Given the description of an element on the screen output the (x, y) to click on. 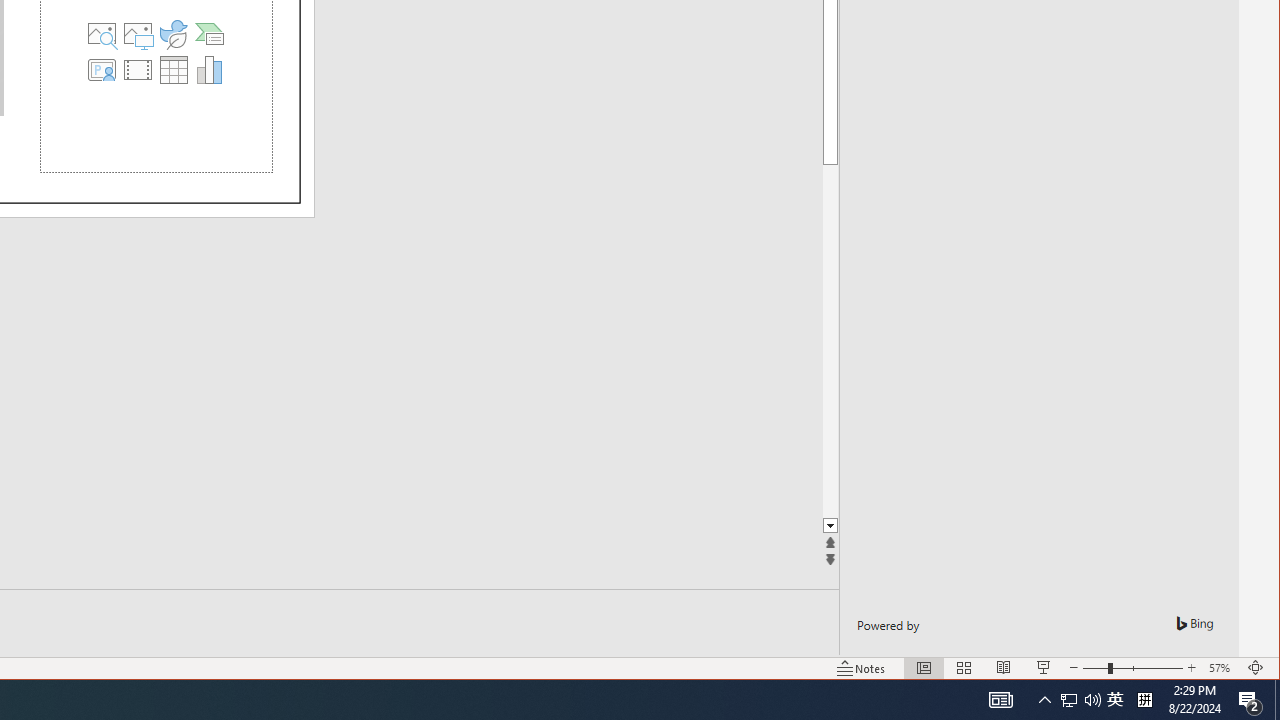
Zoom 57% (1222, 668)
